Given the description of an element on the screen output the (x, y) to click on. 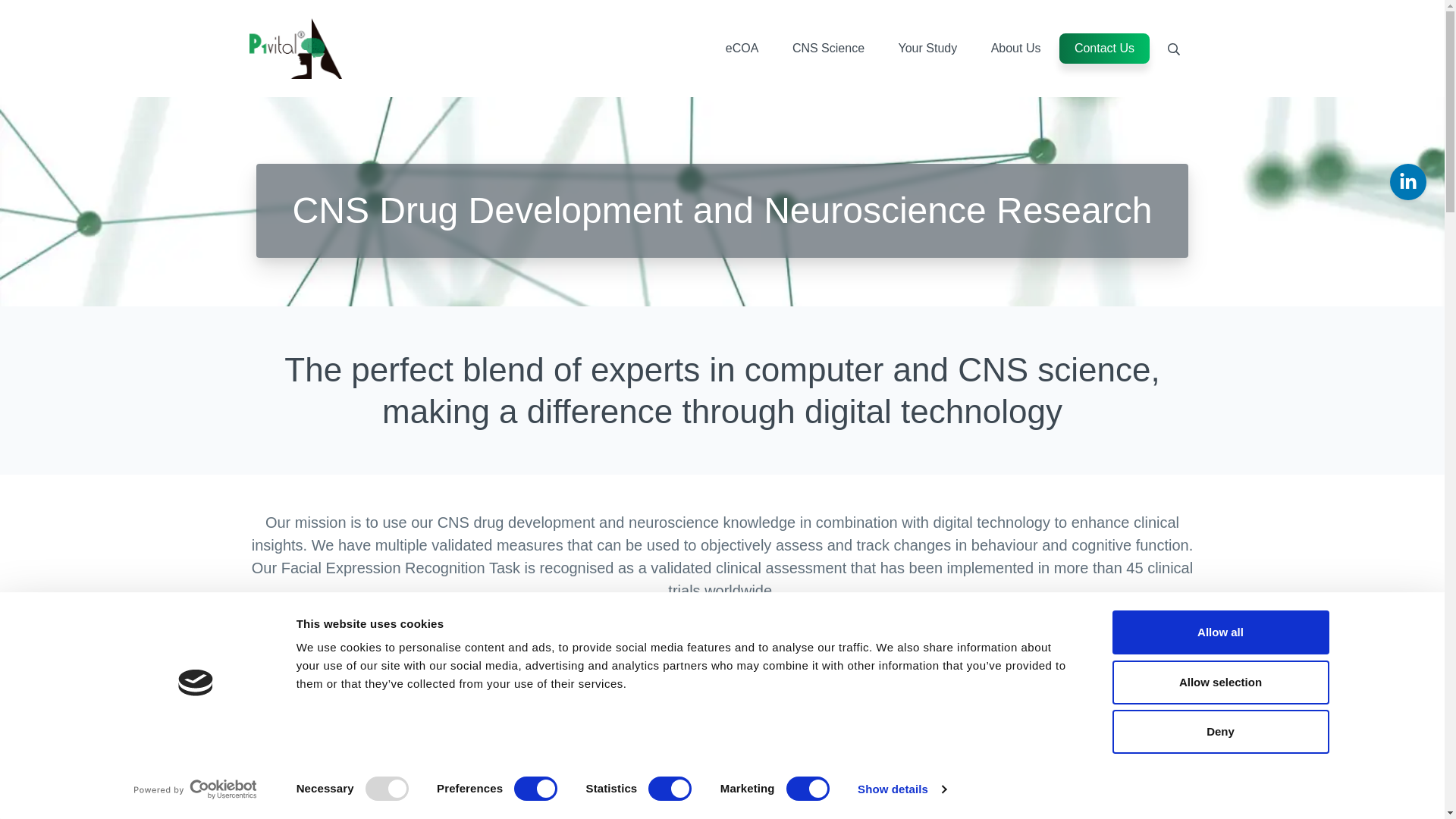
Show details (900, 789)
Allow all (1219, 632)
Deny (1219, 731)
Allow selection (1219, 681)
Share on LinkedIn (1408, 181)
